Given the description of an element on the screen output the (x, y) to click on. 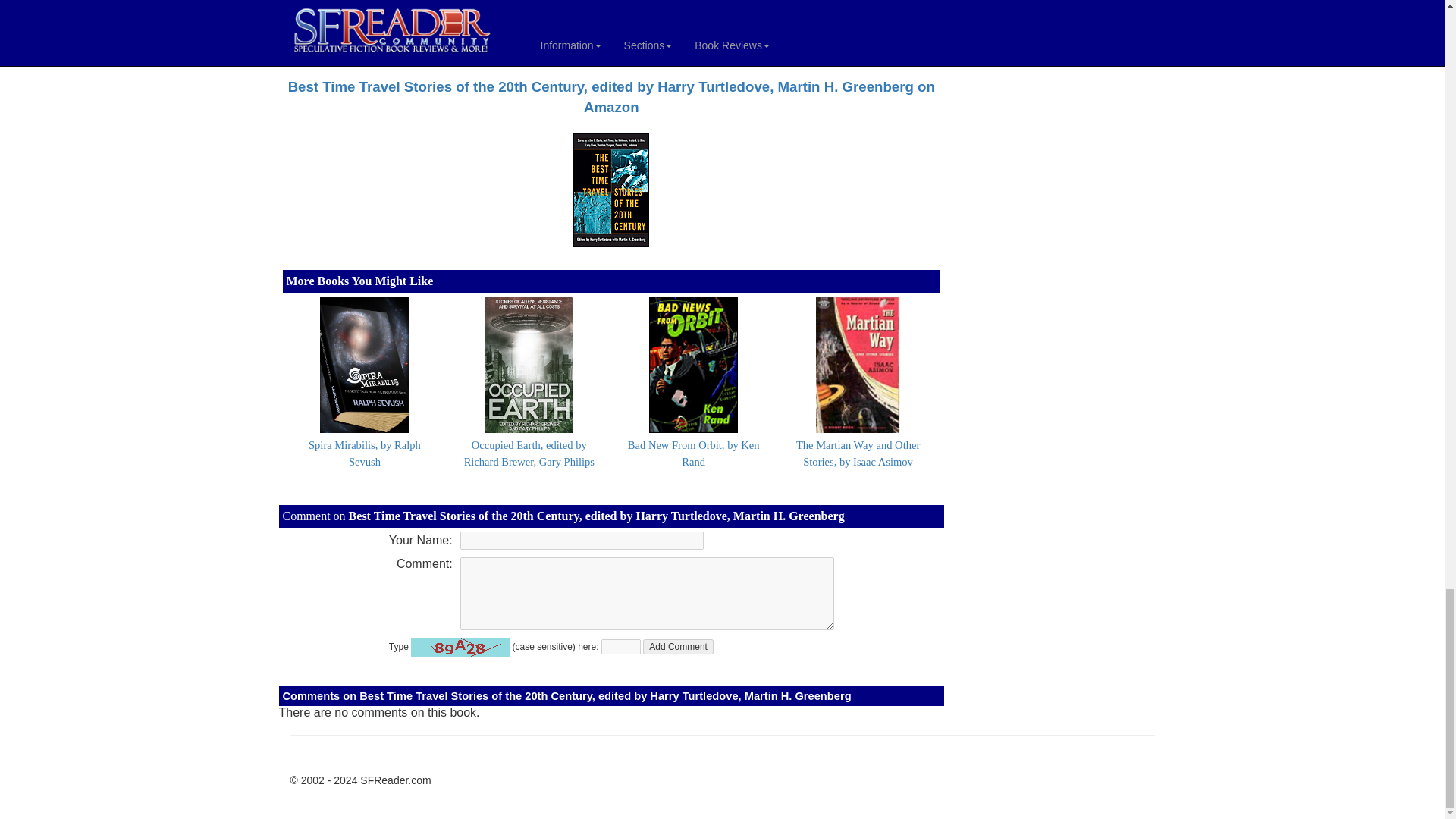
Spira Mirabilis, by Ralph Sevush (364, 453)
Add Comment (678, 646)
